Given the description of an element on the screen output the (x, y) to click on. 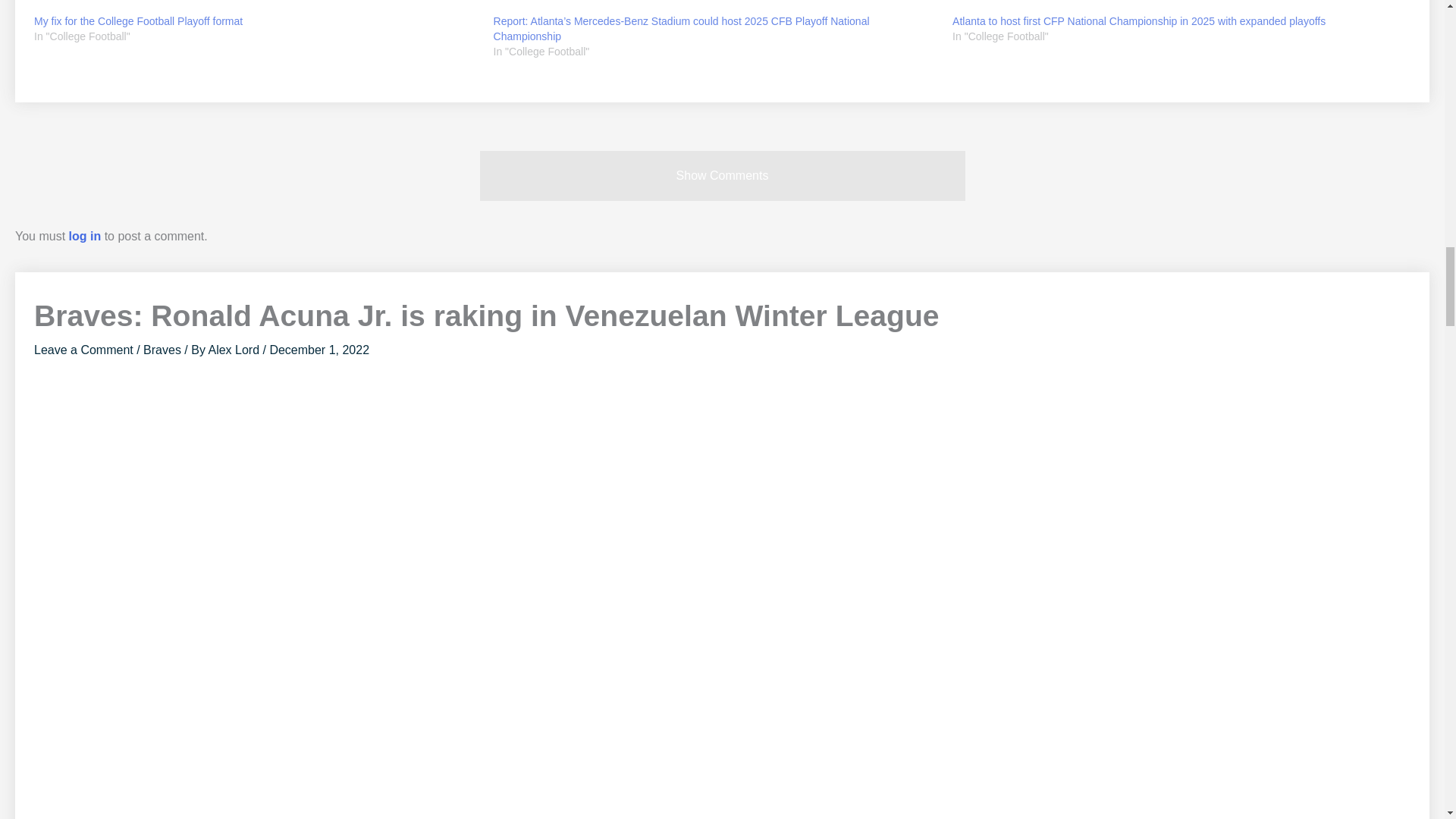
My fix for the College Football Playoff format (138, 21)
View all posts by Alex Lord (235, 349)
My fix for the College Football Playoff format (256, 6)
